Given the description of an element on the screen output the (x, y) to click on. 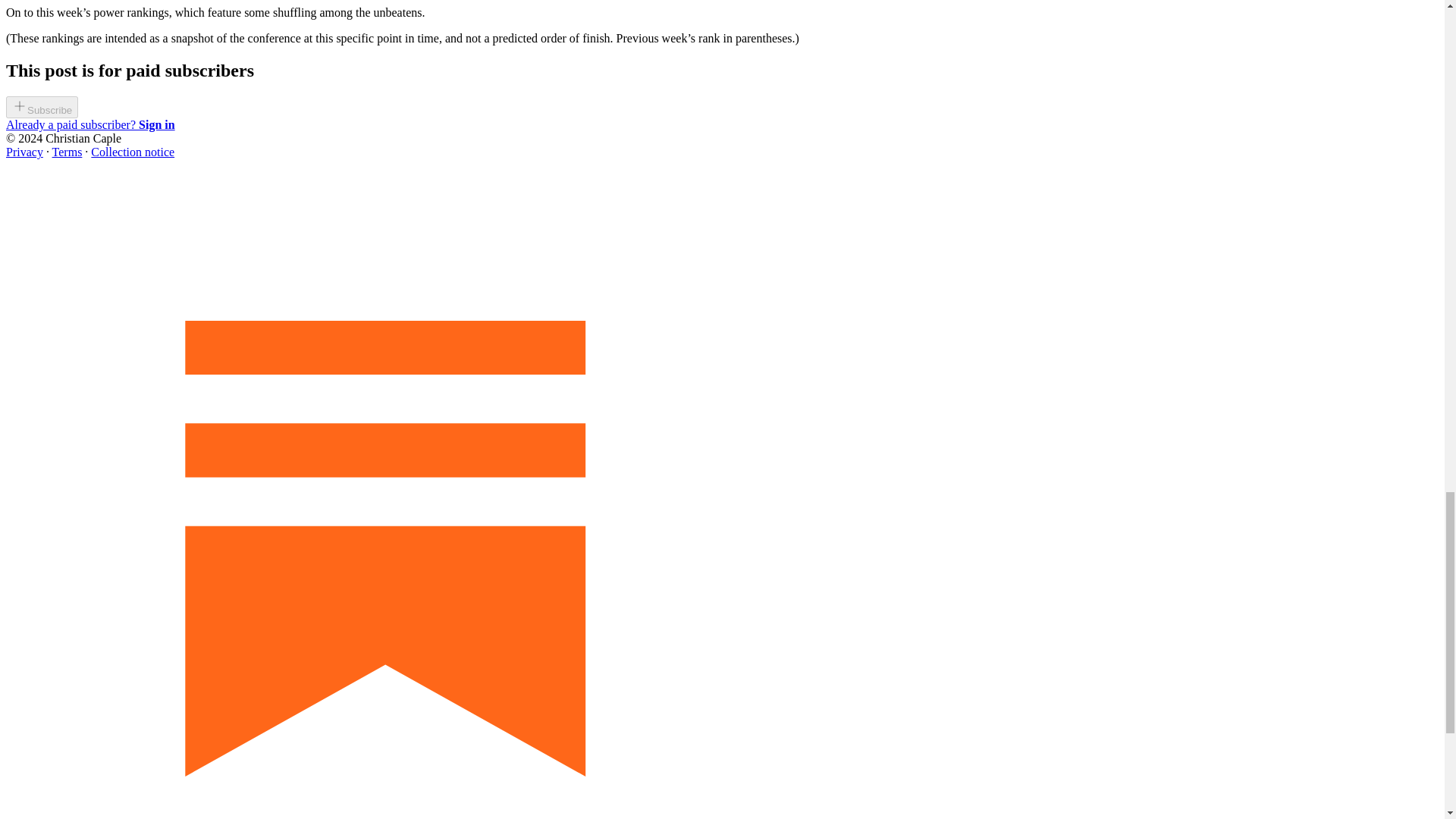
Terms (67, 151)
Privacy (24, 151)
Already a paid subscriber? Sign in (89, 124)
Collection notice (132, 151)
Subscribe (41, 109)
Subscribe (41, 106)
